Given the description of an element on the screen output the (x, y) to click on. 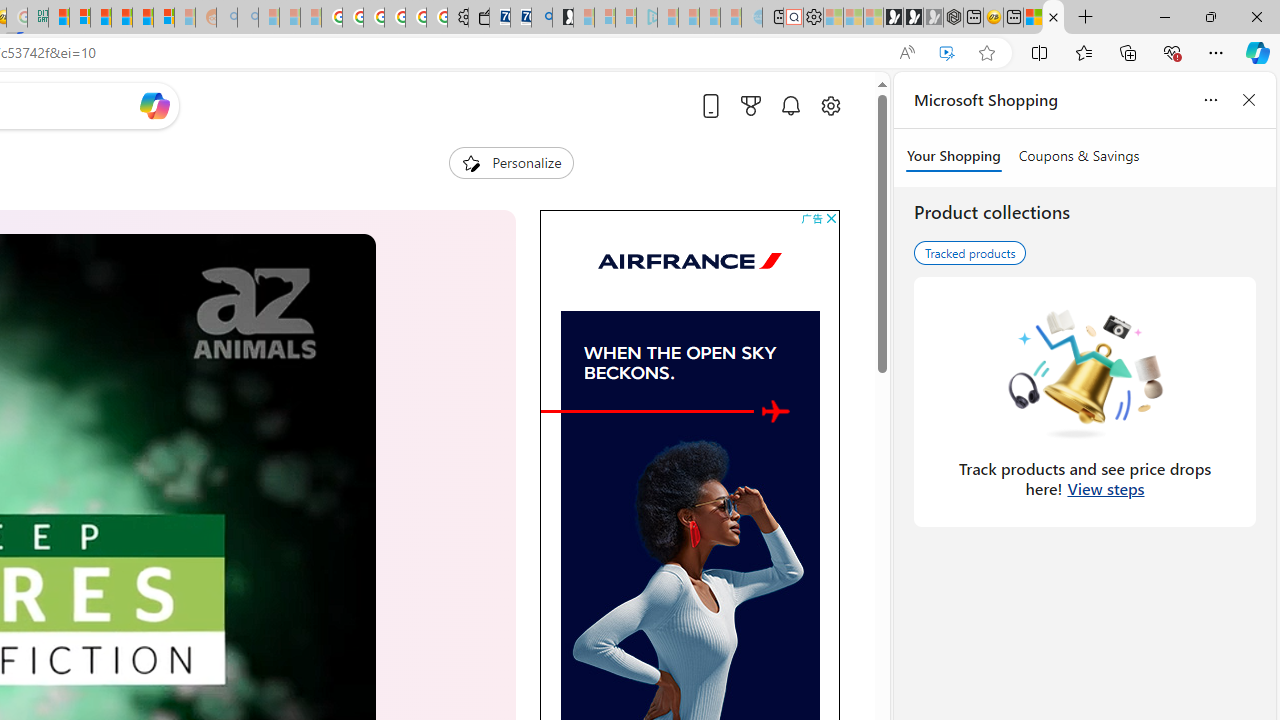
Microsoft rewards (749, 105)
Personalize (511, 162)
AutomationID: cbb (831, 218)
Home | Sky Blue Bikes - Sky Blue Bikes - Sleeping (751, 17)
Notifications (790, 105)
DITOGAMES AG Imprint (38, 17)
Wildlife - MSN (1033, 17)
